Given the description of an element on the screen output the (x, y) to click on. 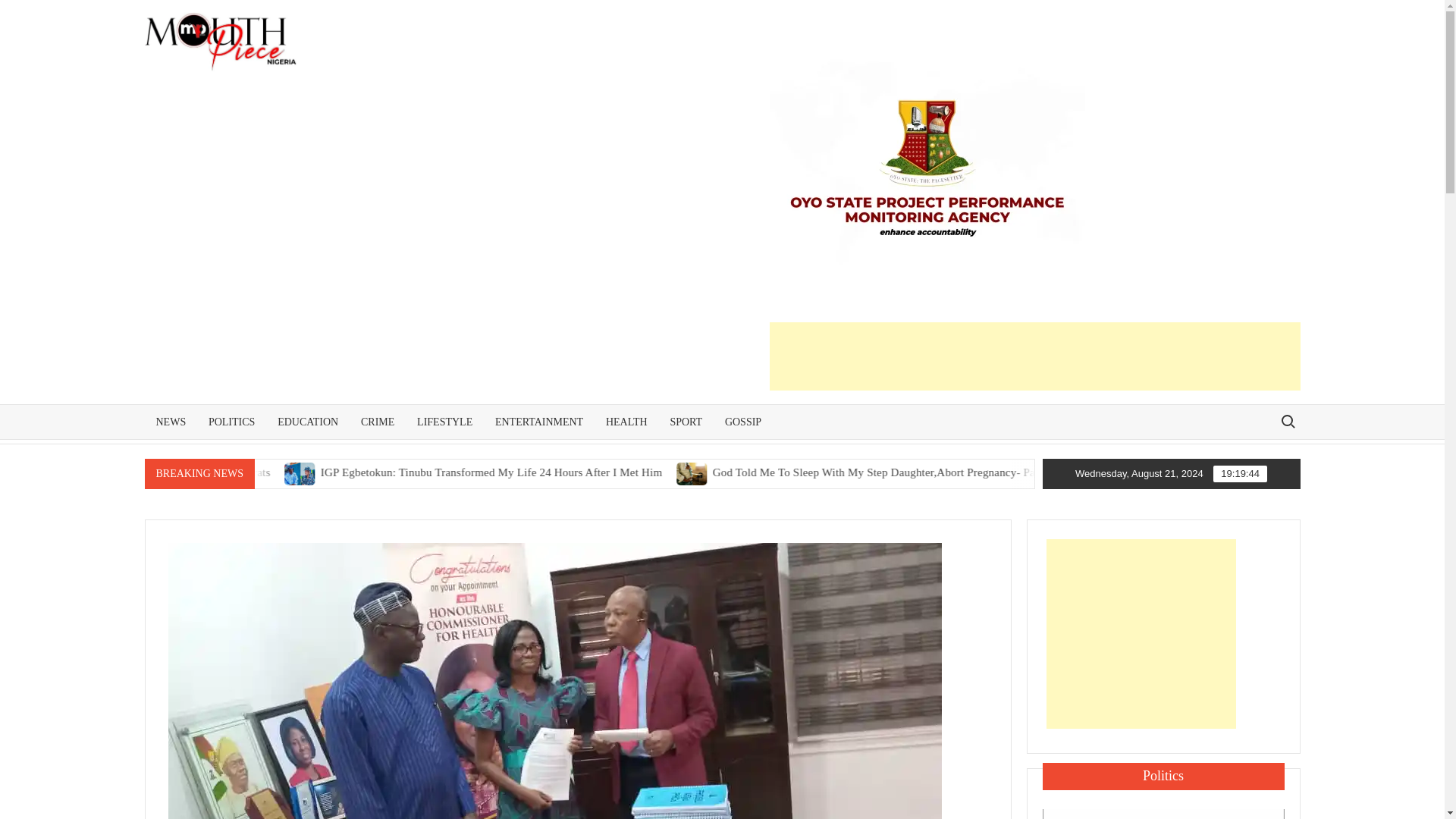
NEWS (170, 421)
MOUTHPIECENGR (440, 60)
POLITICS (231, 421)
ENTERTAINMENT (538, 421)
GOSSIP (743, 421)
CRIME (377, 421)
EDUCATION (307, 421)
